Given the description of an element on the screen output the (x, y) to click on. 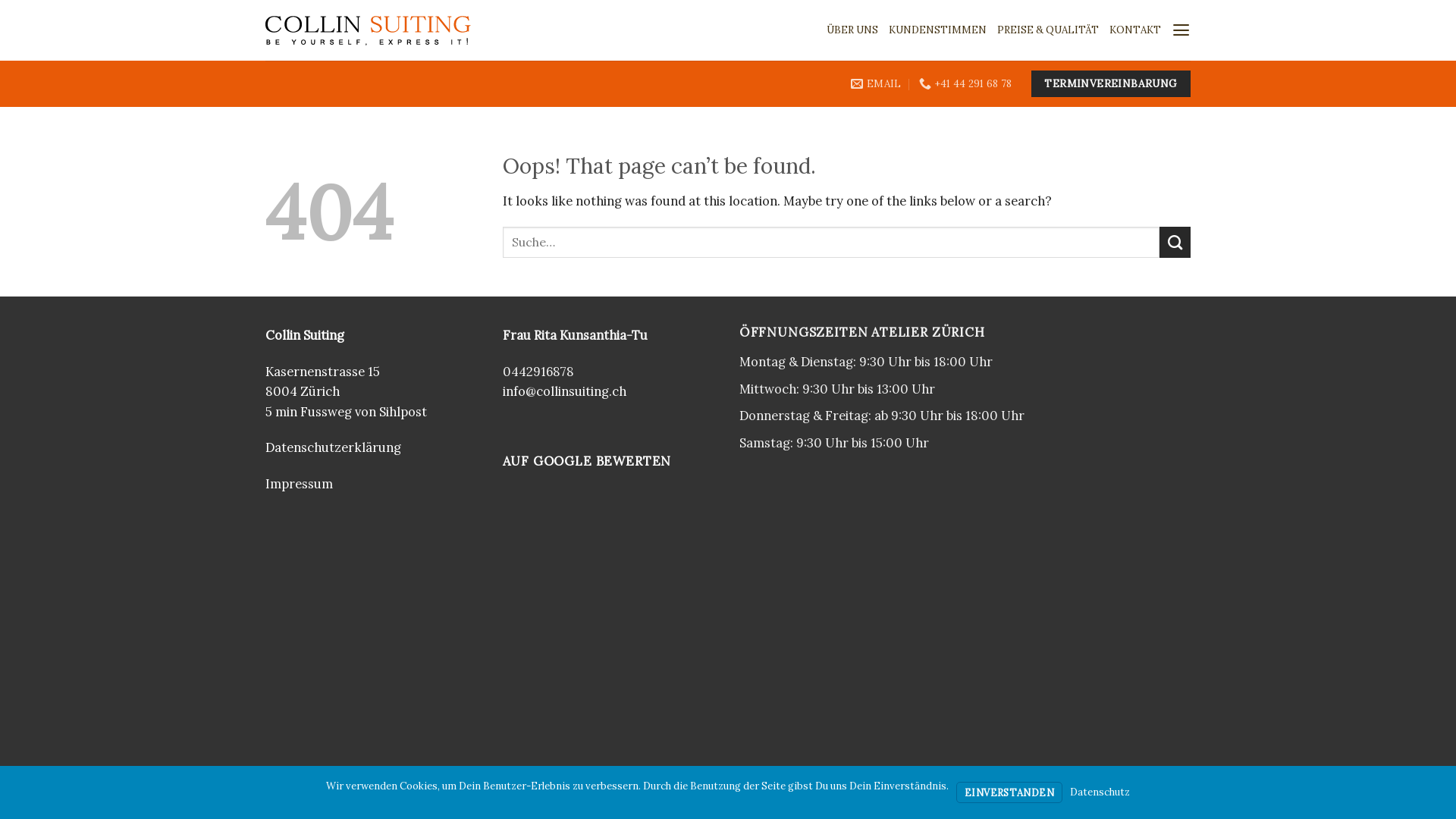
0442916878 Element type: text (537, 371)
KONTAKT Element type: text (1135, 29)
+41 44 291 68 78 Element type: text (965, 83)
Impressum Element type: text (298, 483)
EINVERSTANDEN Element type: text (1009, 792)
AUF GOOGLE BEWERTEN  Element type: text (588, 460)
TERMINVEREINBARUNG Element type: text (1110, 83)
Skip to content Element type: text (0, 0)
Collin Suiting Element type: text (304, 334)
info@collinsuiting.ch Element type: text (563, 390)
Datenschutz Element type: text (1099, 791)
KUNDENSTIMMEN Element type: text (937, 29)
EMAIL Element type: text (875, 83)
